Given the description of an element on the screen output the (x, y) to click on. 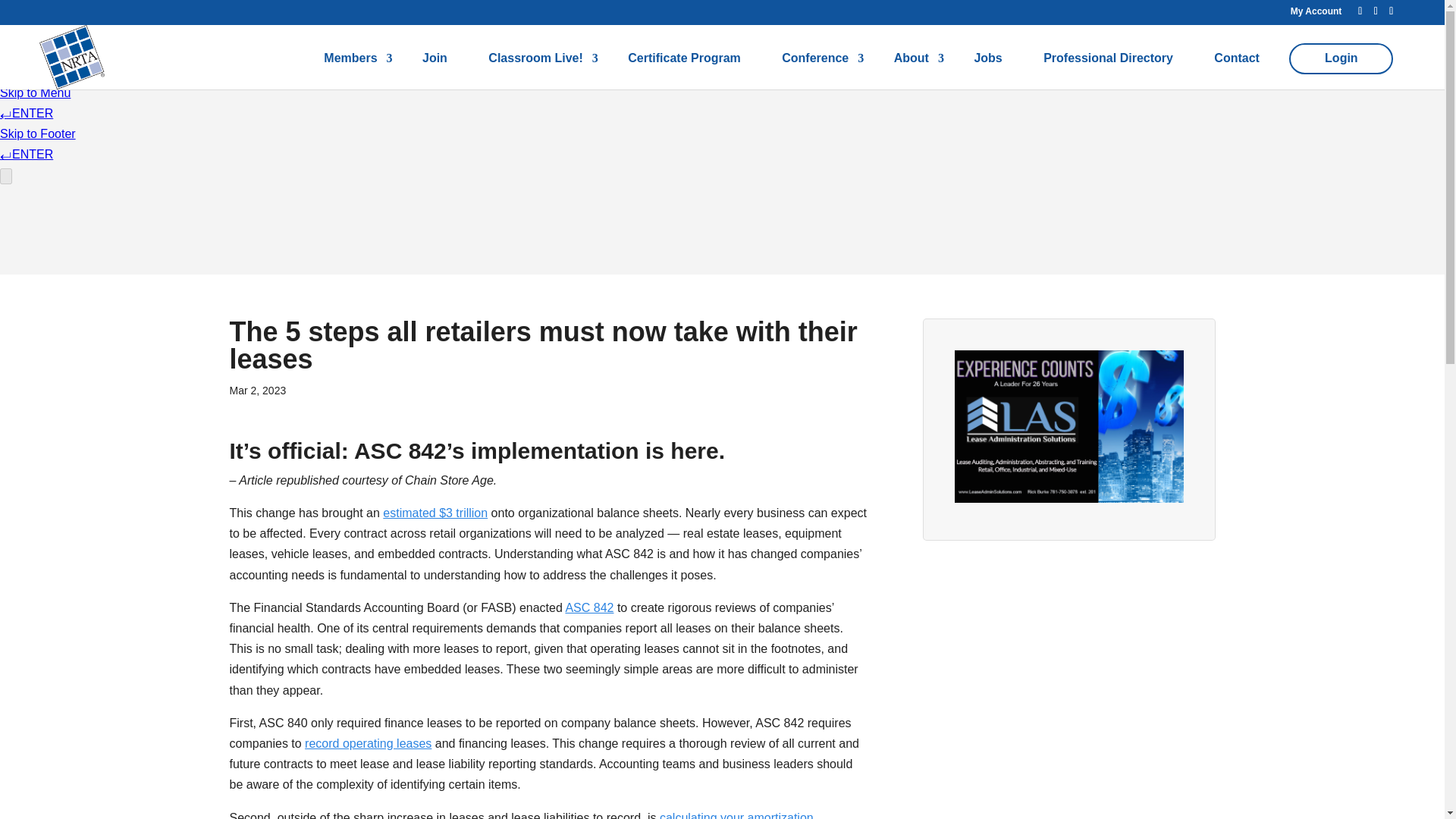
My Account (1316, 10)
Certificate Program (683, 71)
Classroom Live! (536, 71)
Members (352, 71)
Jobs (987, 71)
Contact (1236, 71)
Conference (816, 71)
About (912, 71)
Join (434, 71)
Professional Directory (1108, 71)
